Given the description of an element on the screen output the (x, y) to click on. 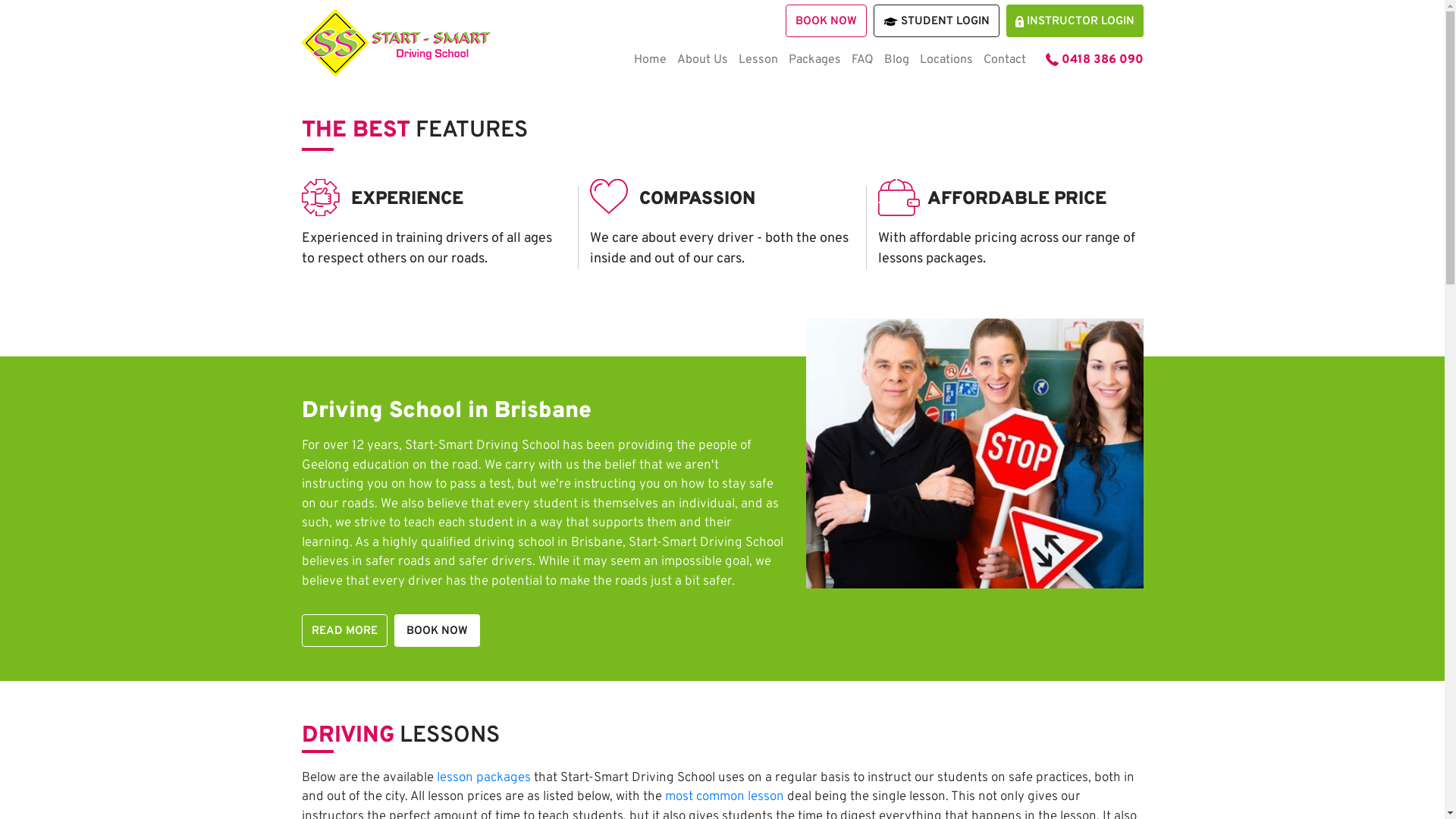
Blog Element type: text (896, 58)
lesson packages Element type: text (483, 776)
FAQ Element type: text (861, 58)
BOOK NOW Element type: text (437, 630)
BOOK NOW Element type: text (825, 20)
Contact Element type: text (1003, 58)
most common lesson Element type: text (723, 796)
0418 386 090 Element type: text (1093, 59)
Packages Element type: text (814, 58)
READ MORE Element type: text (344, 630)
Locations Element type: text (945, 58)
INSTRUCTOR LOGIN Element type: text (1073, 20)
Home Element type: text (649, 58)
STUDENT LOGIN Element type: text (936, 20)
Lesson Element type: text (758, 58)
About Us Element type: text (701, 58)
